Given the description of an element on the screen output the (x, y) to click on. 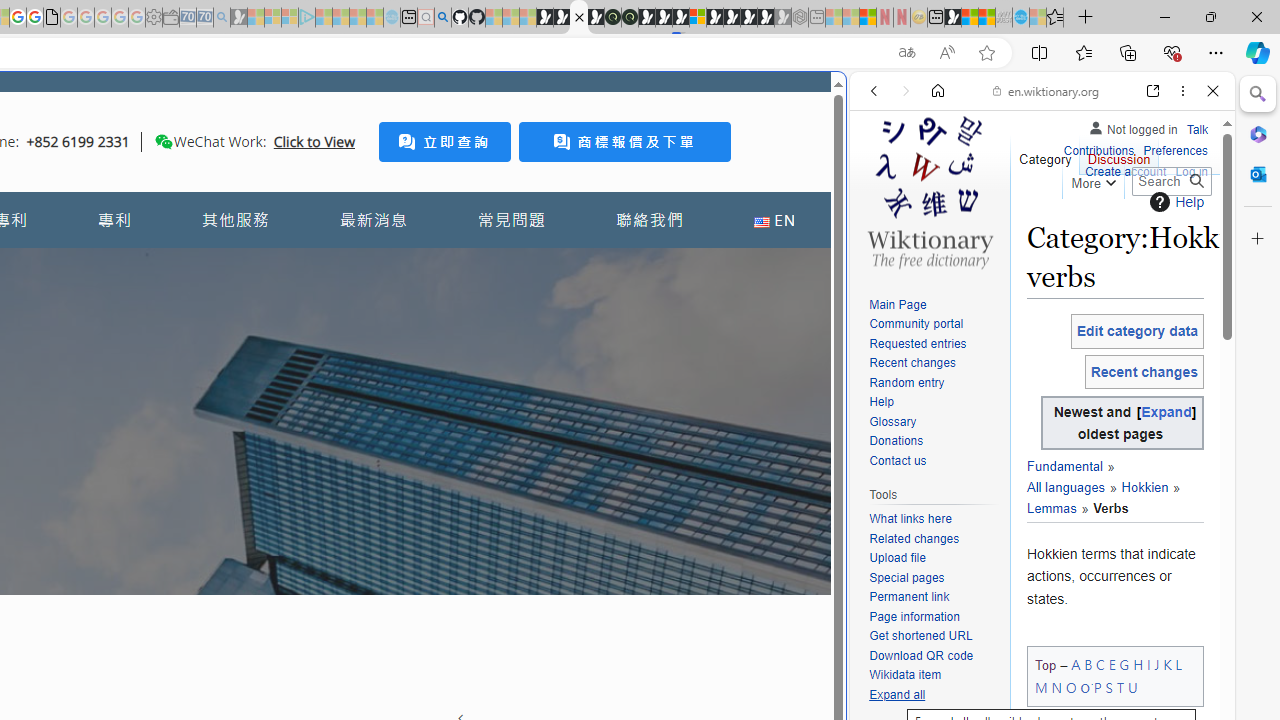
Contact us (897, 460)
Random entry (906, 382)
Community portal (934, 324)
Talk (1197, 126)
Related changes (934, 539)
What links here (934, 519)
en.wiktionary.org (1046, 90)
All languages (1071, 477)
